Given the description of an element on the screen output the (x, y) to click on. 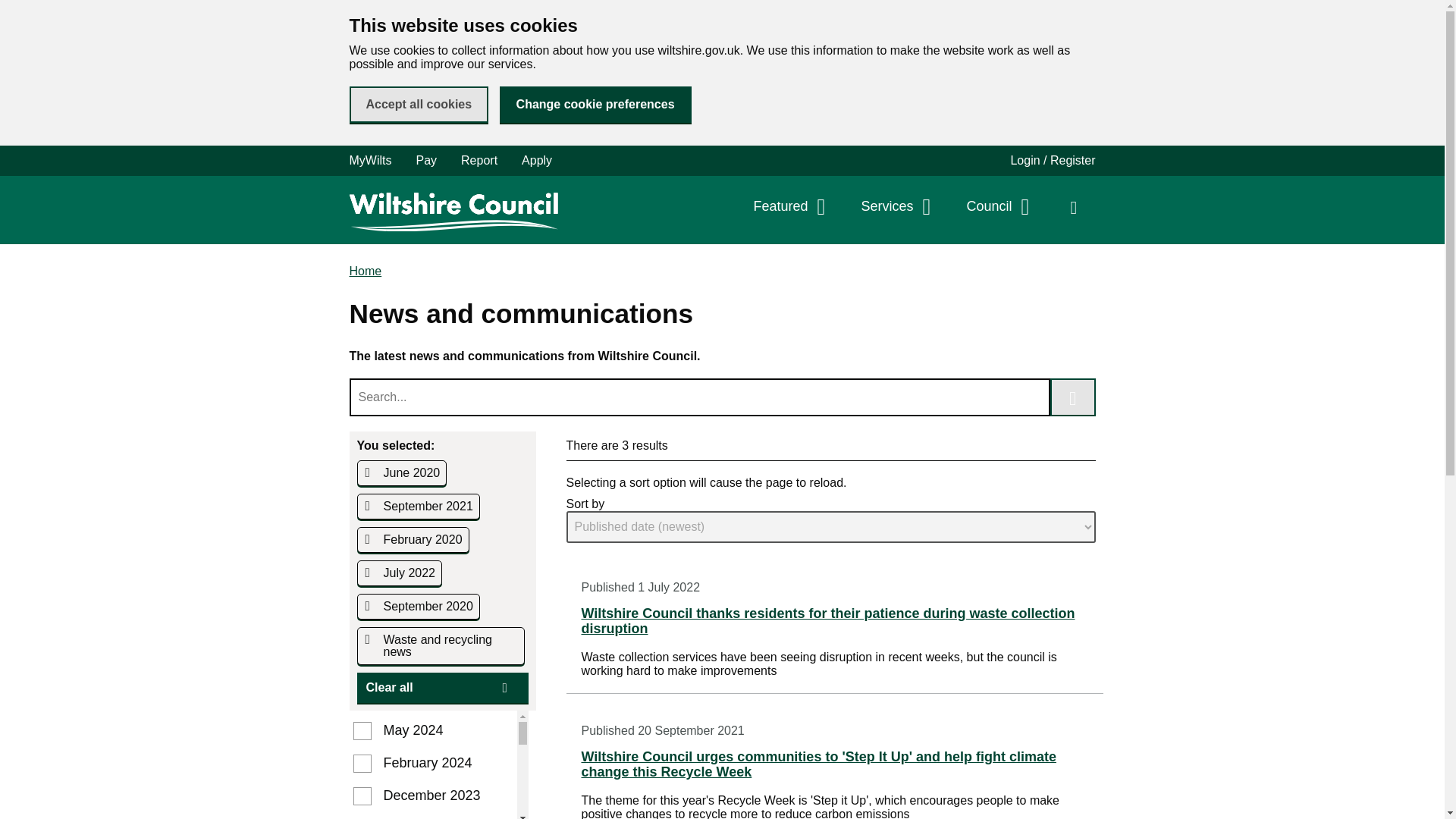
Featured (791, 206)
Change cookie preferences (595, 104)
Apply (536, 160)
Pay (425, 160)
Accept all cookies (418, 104)
Report (478, 160)
MyWilts (376, 160)
Skip to main content (11, 11)
true (42, 18)
Services (897, 206)
